Given the description of an element on the screen output the (x, y) to click on. 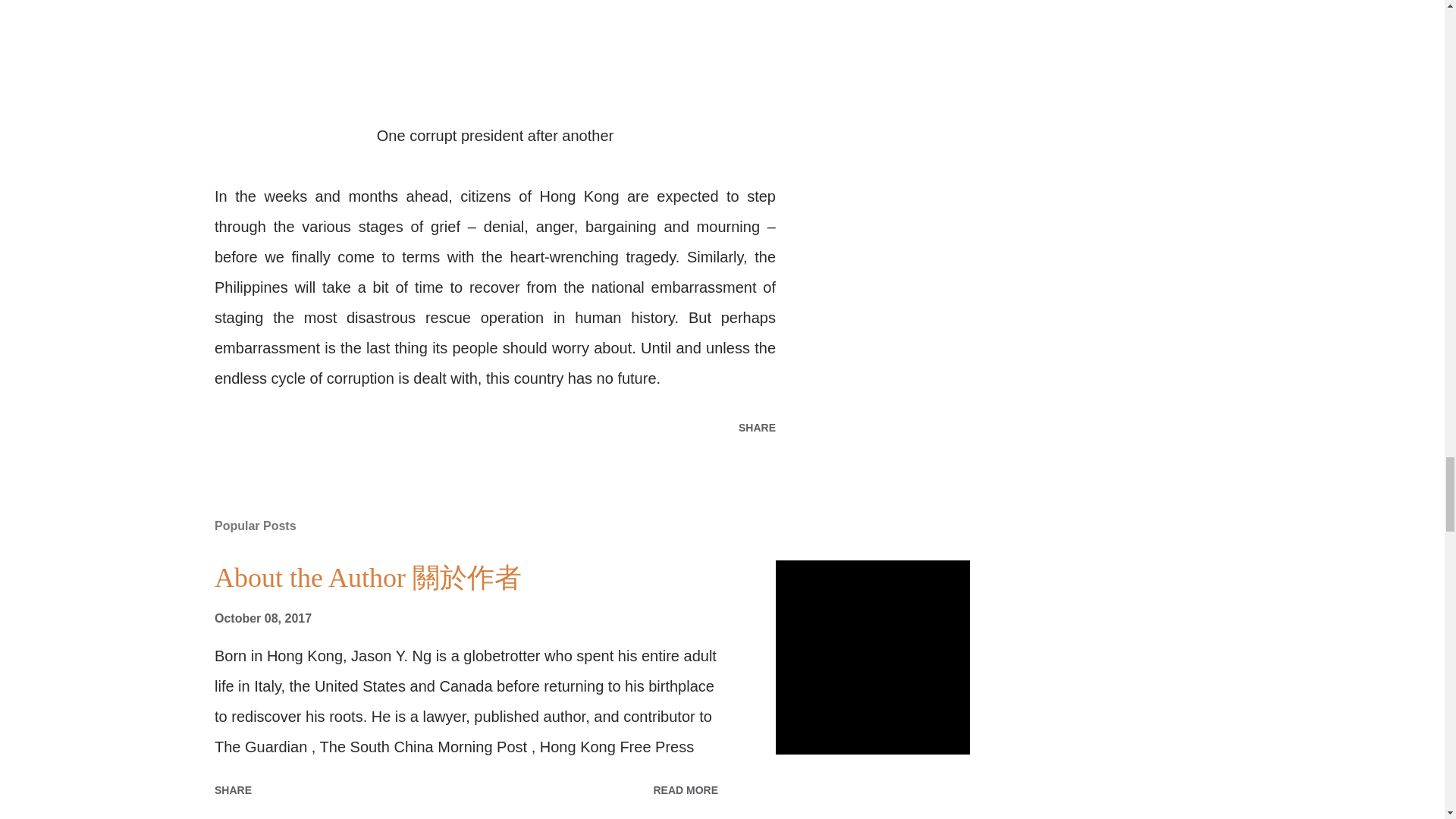
October 08, 2017 (262, 617)
SHARE (232, 790)
READ MORE (684, 790)
SHARE (756, 427)
permanent link (262, 617)
